Given the description of an element on the screen output the (x, y) to click on. 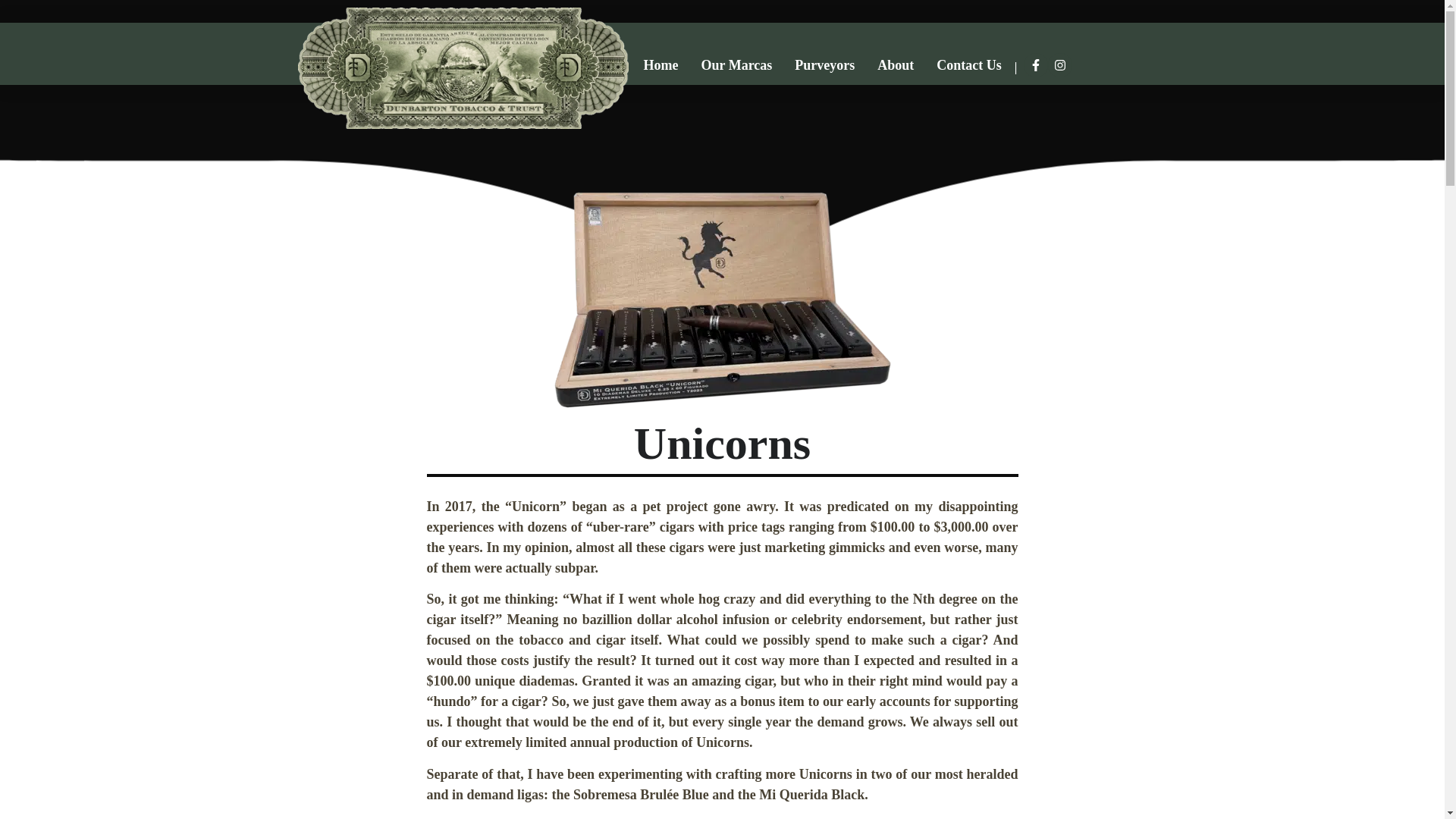
Home (660, 64)
Purveyors (824, 64)
Our Marcas (735, 64)
About (895, 64)
Contact Us (968, 64)
